Given the description of an element on the screen output the (x, y) to click on. 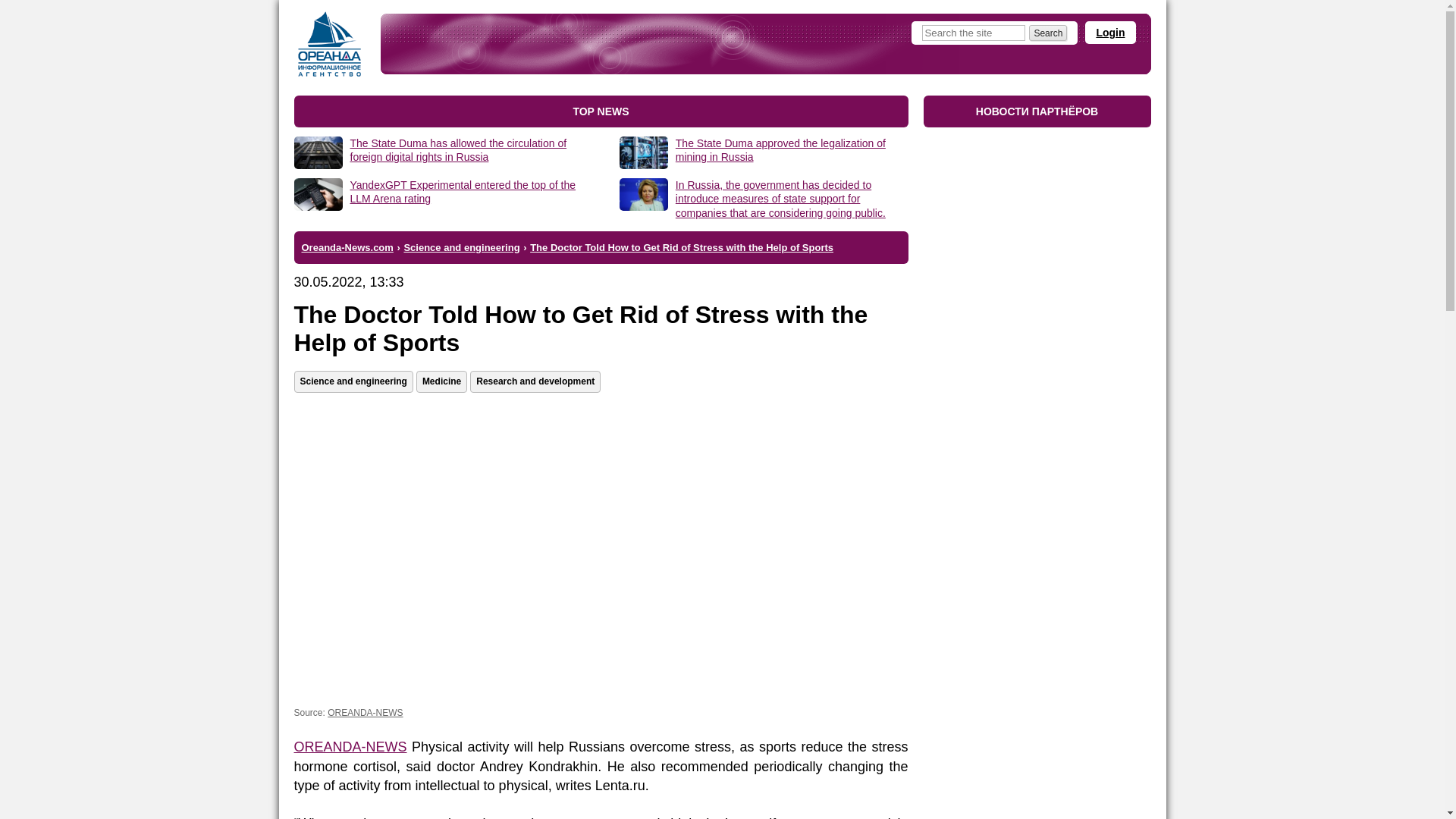
The State Duma approved the legalization of mining in Russia (780, 149)
OREANDA-NEWS (350, 746)
Search (1048, 32)
OREANDA-NEWS (365, 712)
Medicine (441, 382)
Oreanda-News.com (347, 247)
Science and engineering (353, 382)
To main page (329, 43)
Science and engineering (461, 247)
Research and development (534, 382)
Search (1048, 32)
